Given the description of an element on the screen output the (x, y) to click on. 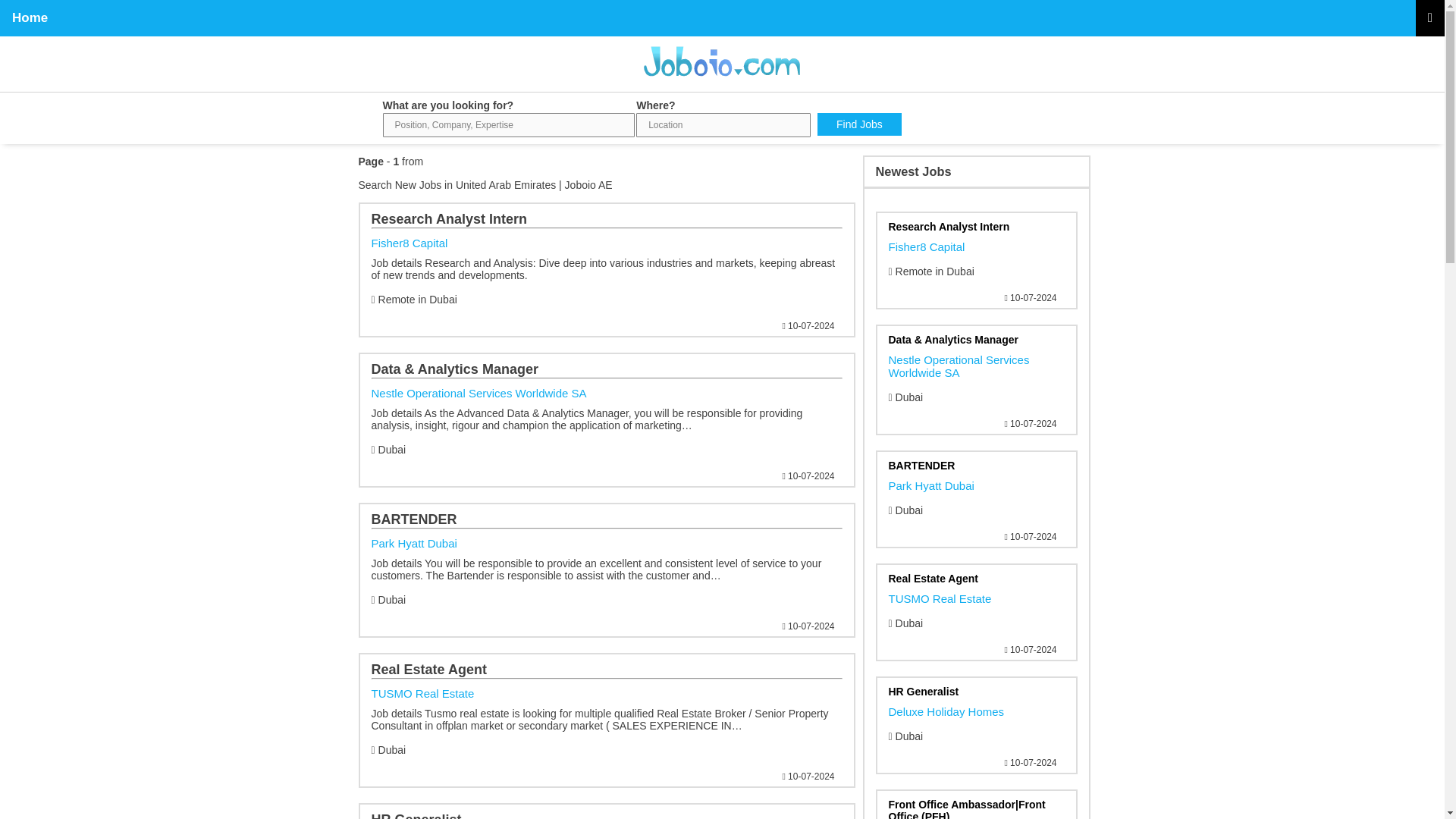
Find Jobs (858, 124)
BARTENDER (607, 552)
Joboio (722, 81)
HR Generalist (607, 815)
Real Estate Agent (976, 594)
Research Analyst Intern (976, 707)
Research Analyst Intern (607, 702)
